Given the description of an element on the screen output the (x, y) to click on. 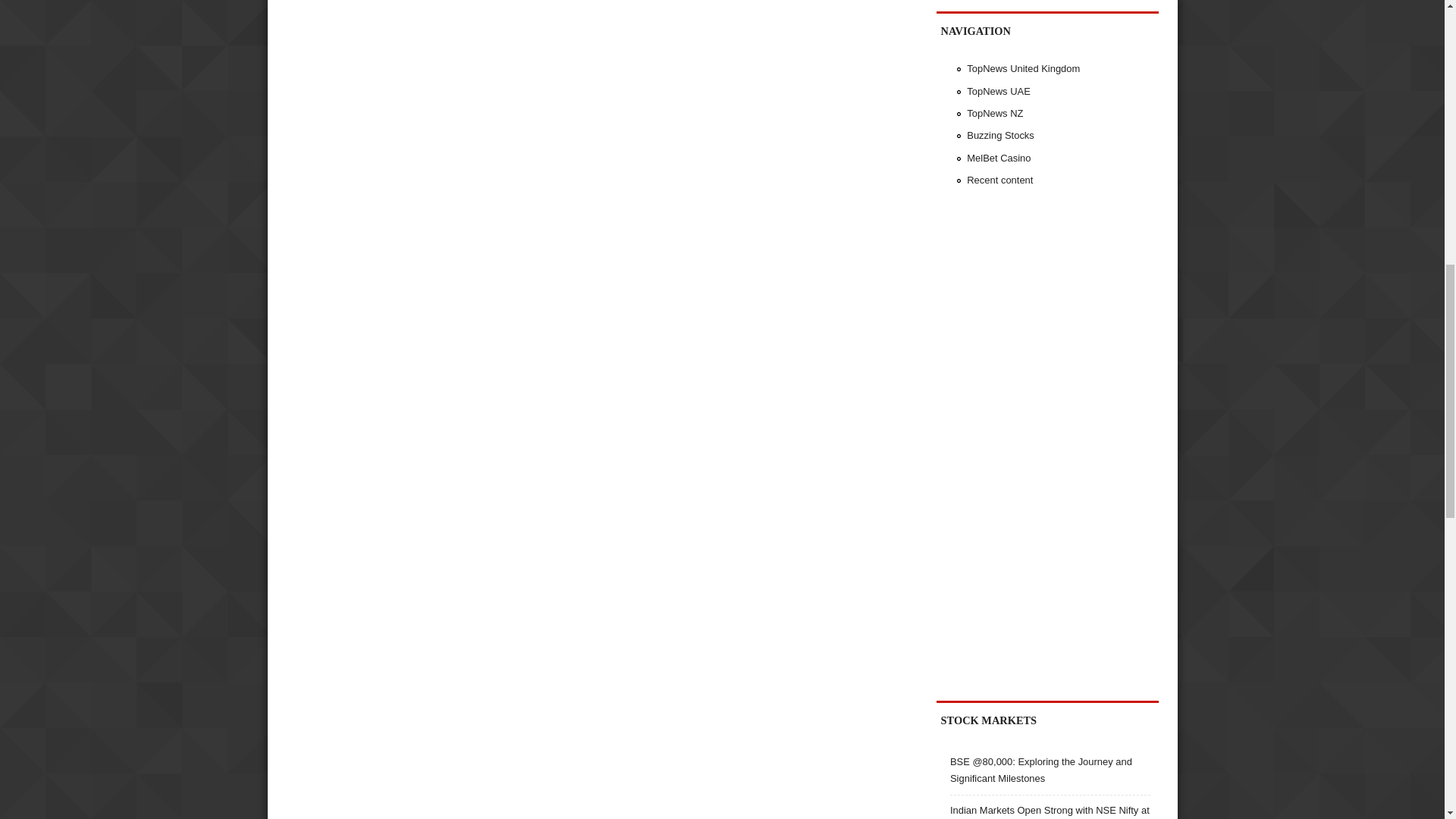
Recent content (999, 179)
Buzzing Stocks (999, 134)
TopNews United Kingdom (1023, 68)
MelBet Casino (998, 157)
TopNews NZ (994, 112)
TopNews UAE (998, 91)
